Given the description of an element on the screen output the (x, y) to click on. 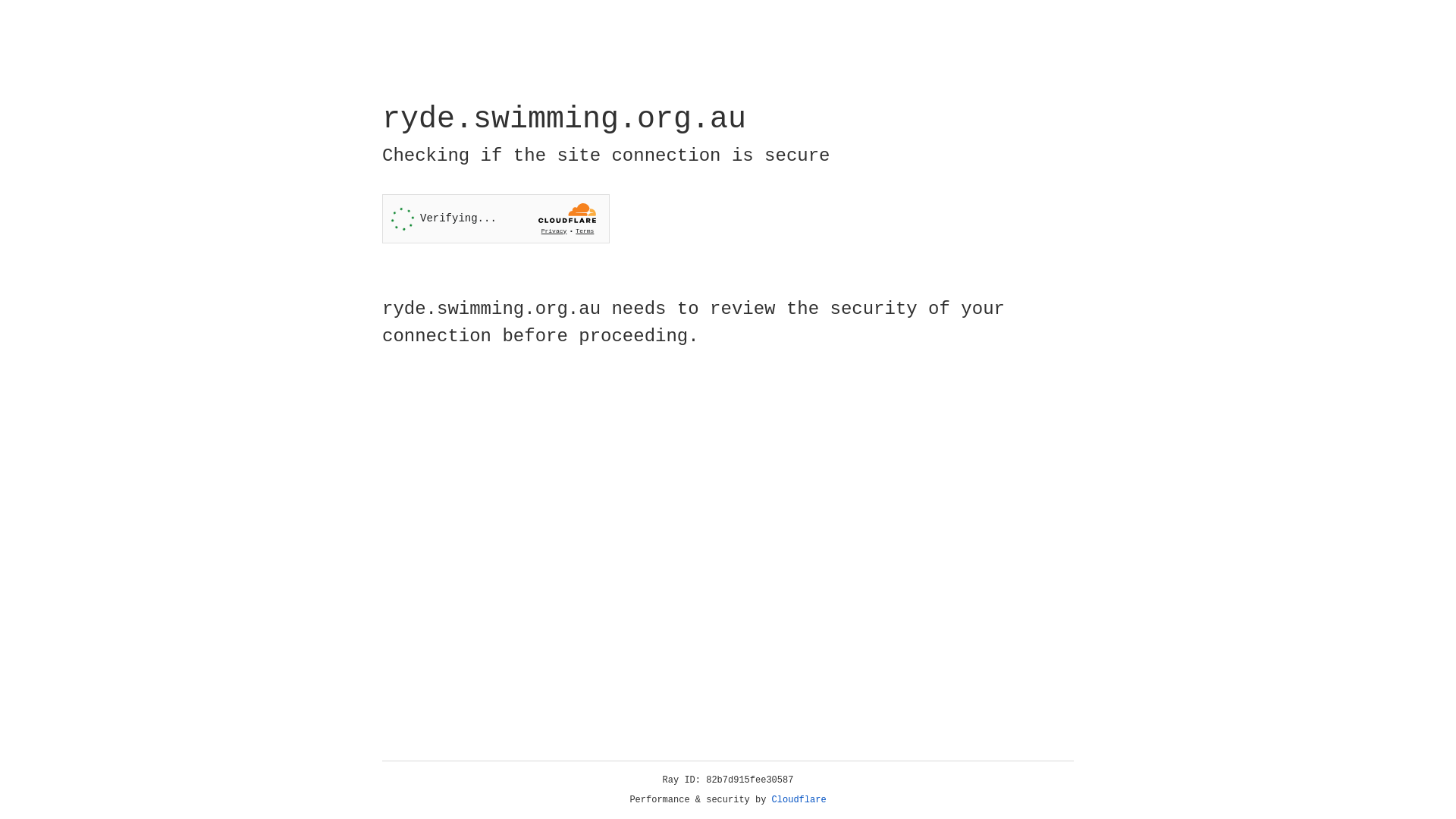
Cloudflare Element type: text (798, 799)
Widget containing a Cloudflare security challenge Element type: hover (495, 218)
